Given the description of an element on the screen output the (x, y) to click on. 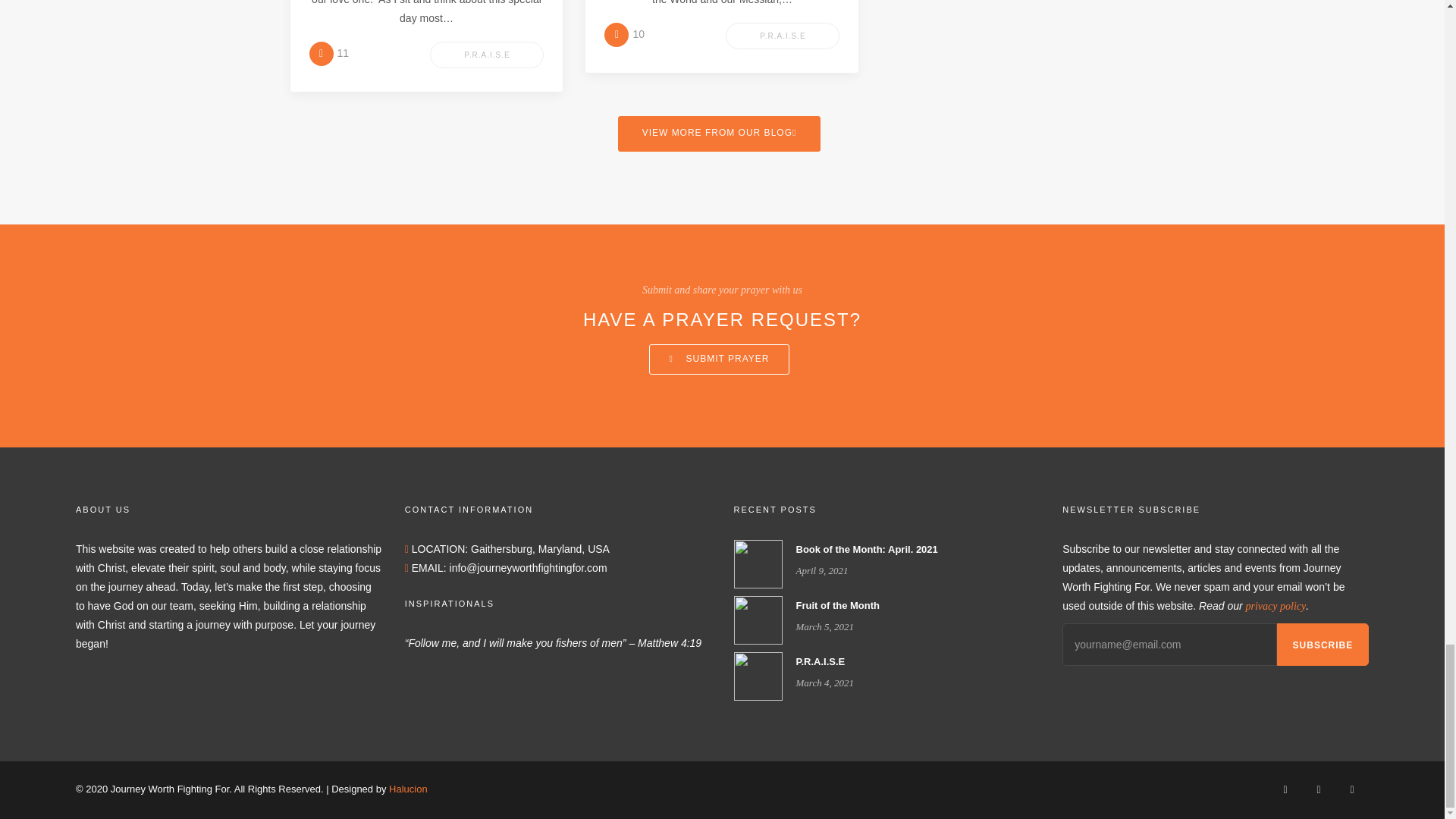
Book of the Month: April. 2021 (758, 563)
Subscribe (1322, 644)
